Given the description of an element on the screen output the (x, y) to click on. 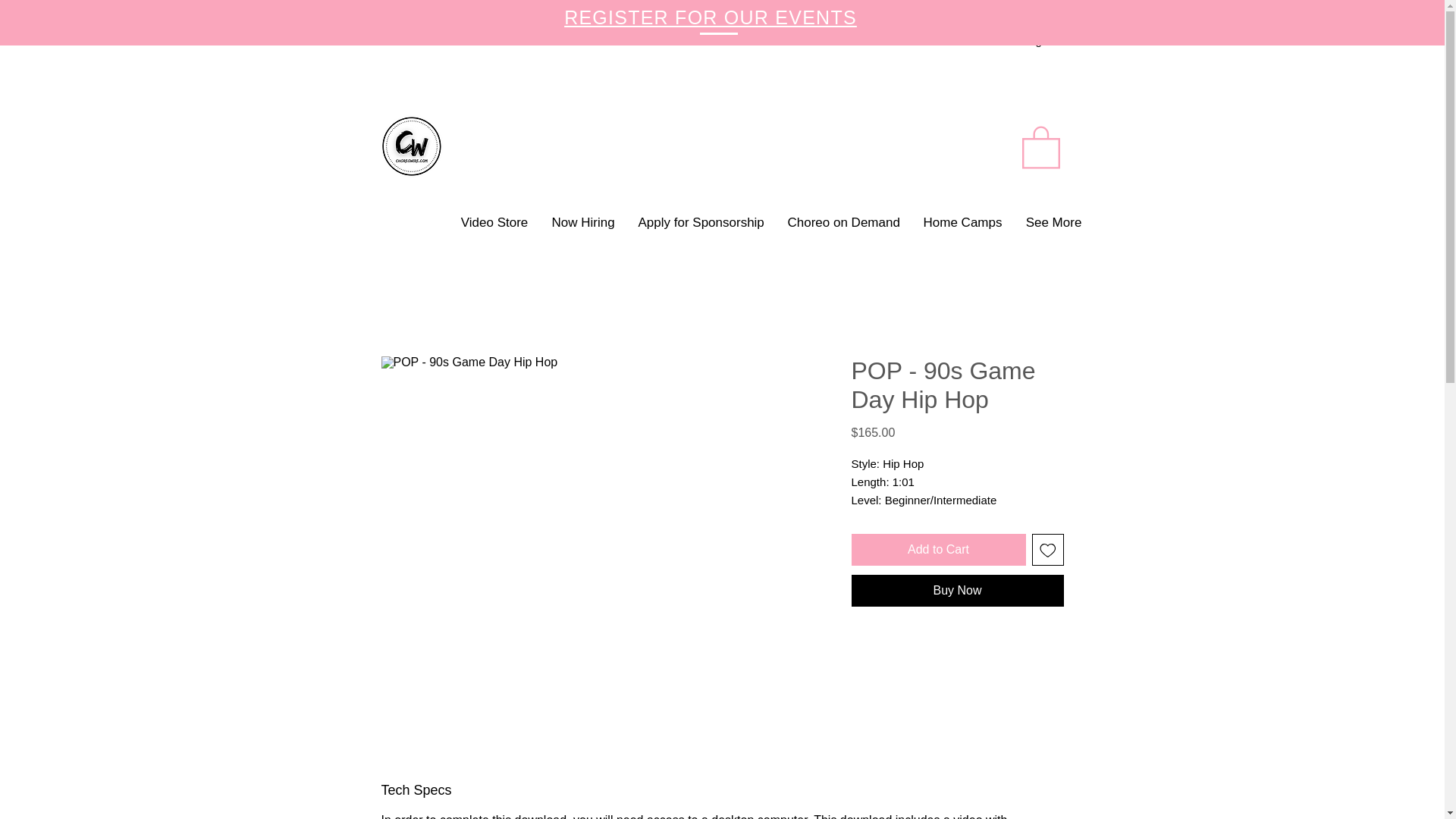
Buy Now (956, 590)
Home Camps (962, 222)
Now Hiring (583, 222)
Log In (1038, 40)
Choreo on Demand (842, 222)
Add to Cart (937, 549)
REGISTER FOR OUR EVENTS (710, 16)
Video Store (494, 222)
Apply for Sponsorship (701, 222)
